Given the description of an element on the screen output the (x, y) to click on. 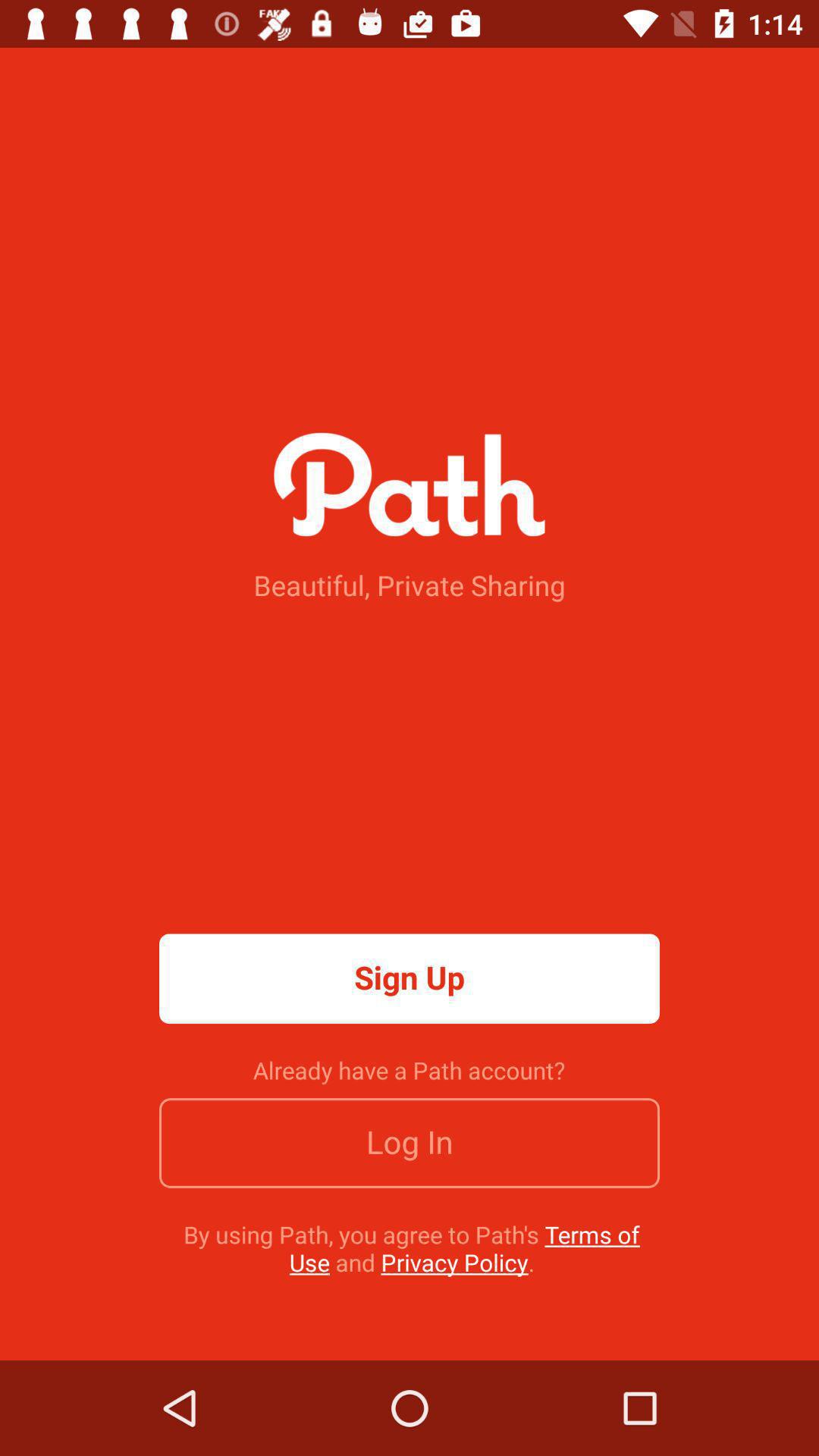
scroll to by using path item (411, 1248)
